Given the description of an element on the screen output the (x, y) to click on. 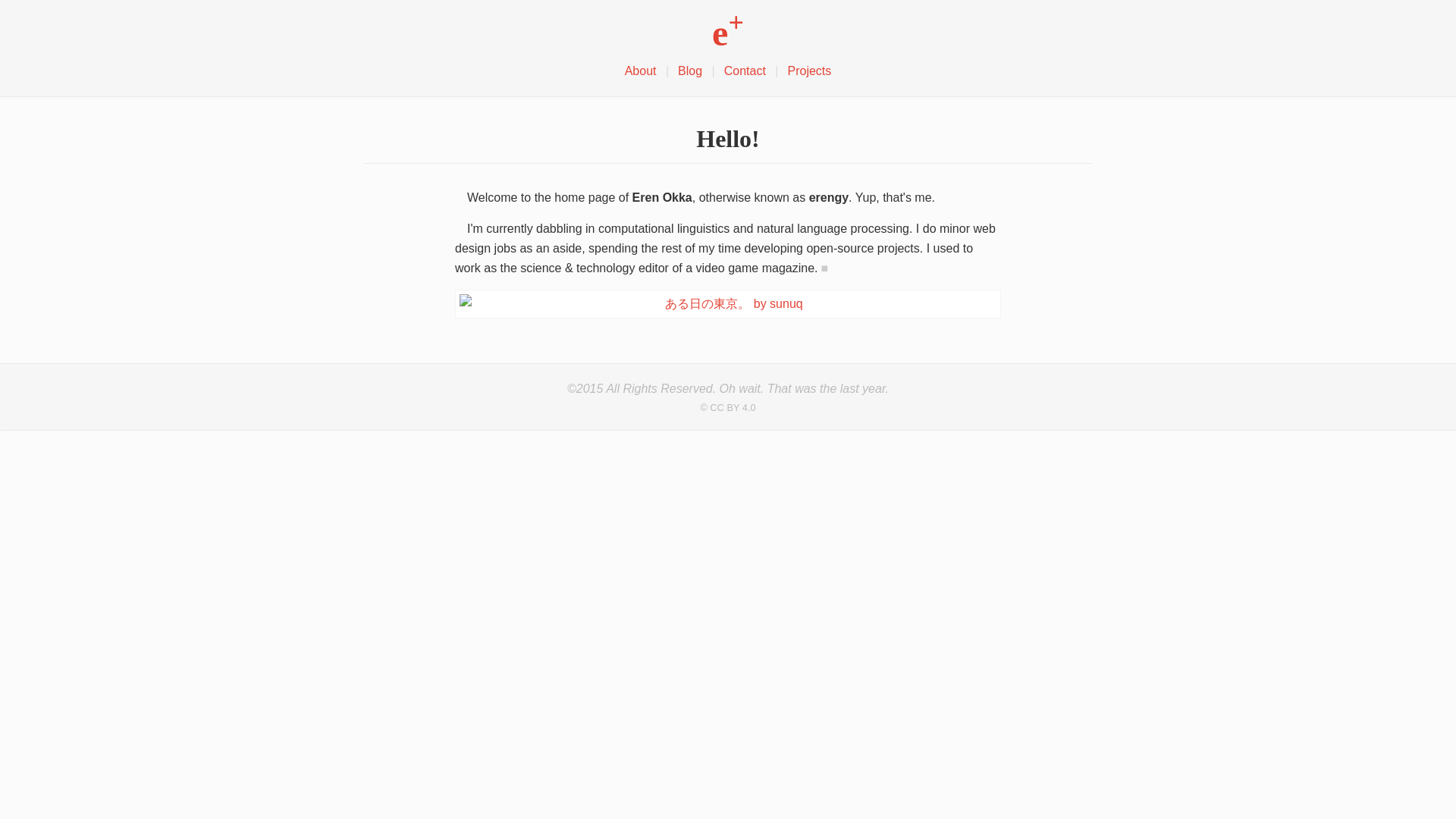
About (640, 71)
Blog (689, 71)
Creative Commons Attribution 4.0 International License (727, 407)
Projects (808, 71)
Hello! (727, 138)
Contact (744, 71)
